Given the description of an element on the screen output the (x, y) to click on. 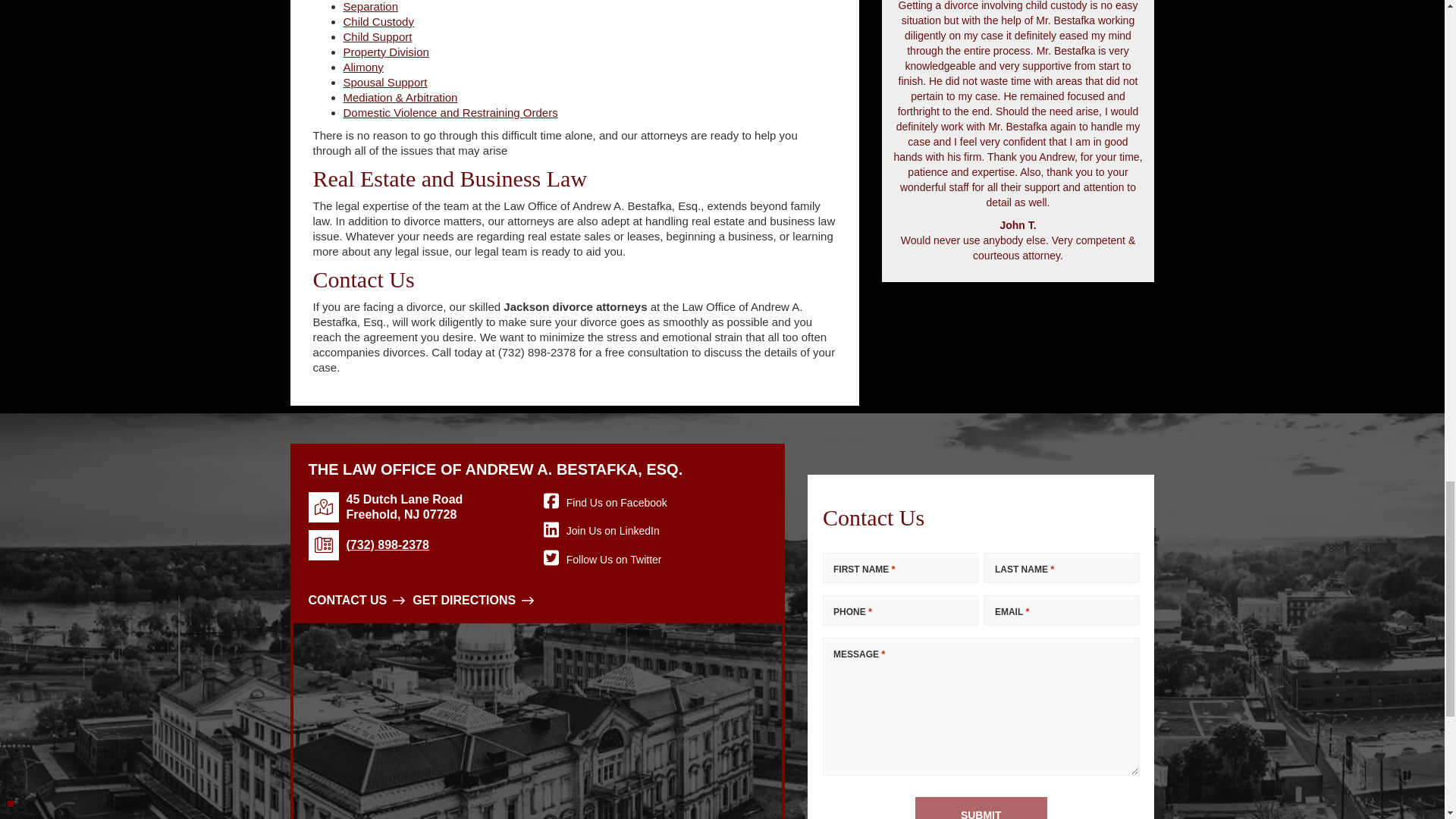
Alimony (362, 66)
Domestic Violence and Restraining Orders (449, 112)
Child Support (377, 36)
Child Custody (377, 21)
Property Division (385, 51)
Spousal Support (384, 82)
Submit (981, 807)
Separation (369, 6)
